Given the description of an element on the screen output the (x, y) to click on. 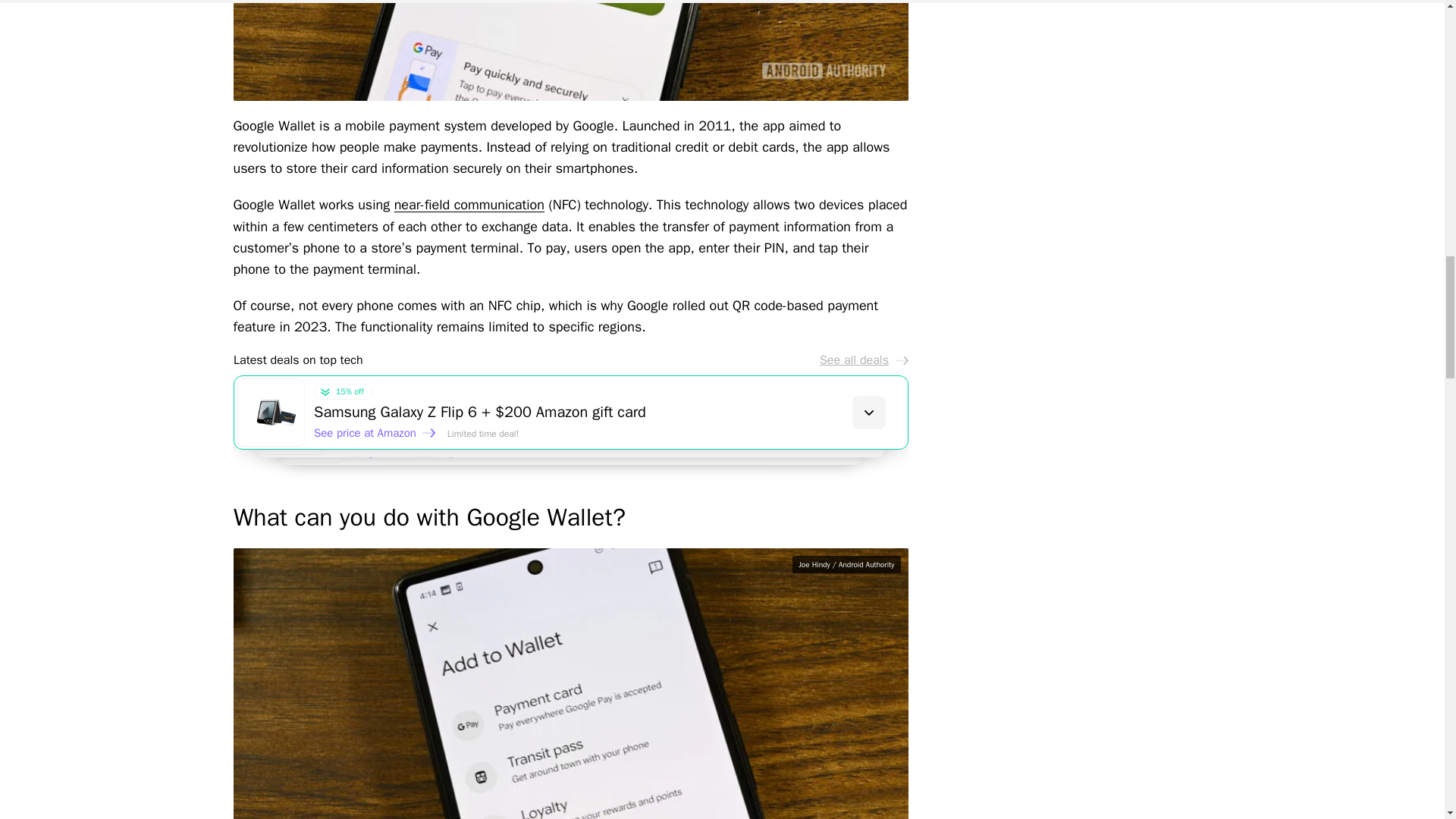
See price at Amazon (374, 432)
See all deals (862, 359)
Google Wallet 1 (570, 50)
See price at Amazon (409, 458)
See price at Amazon (391, 445)
near-field communication (469, 204)
